Given the description of an element on the screen output the (x, y) to click on. 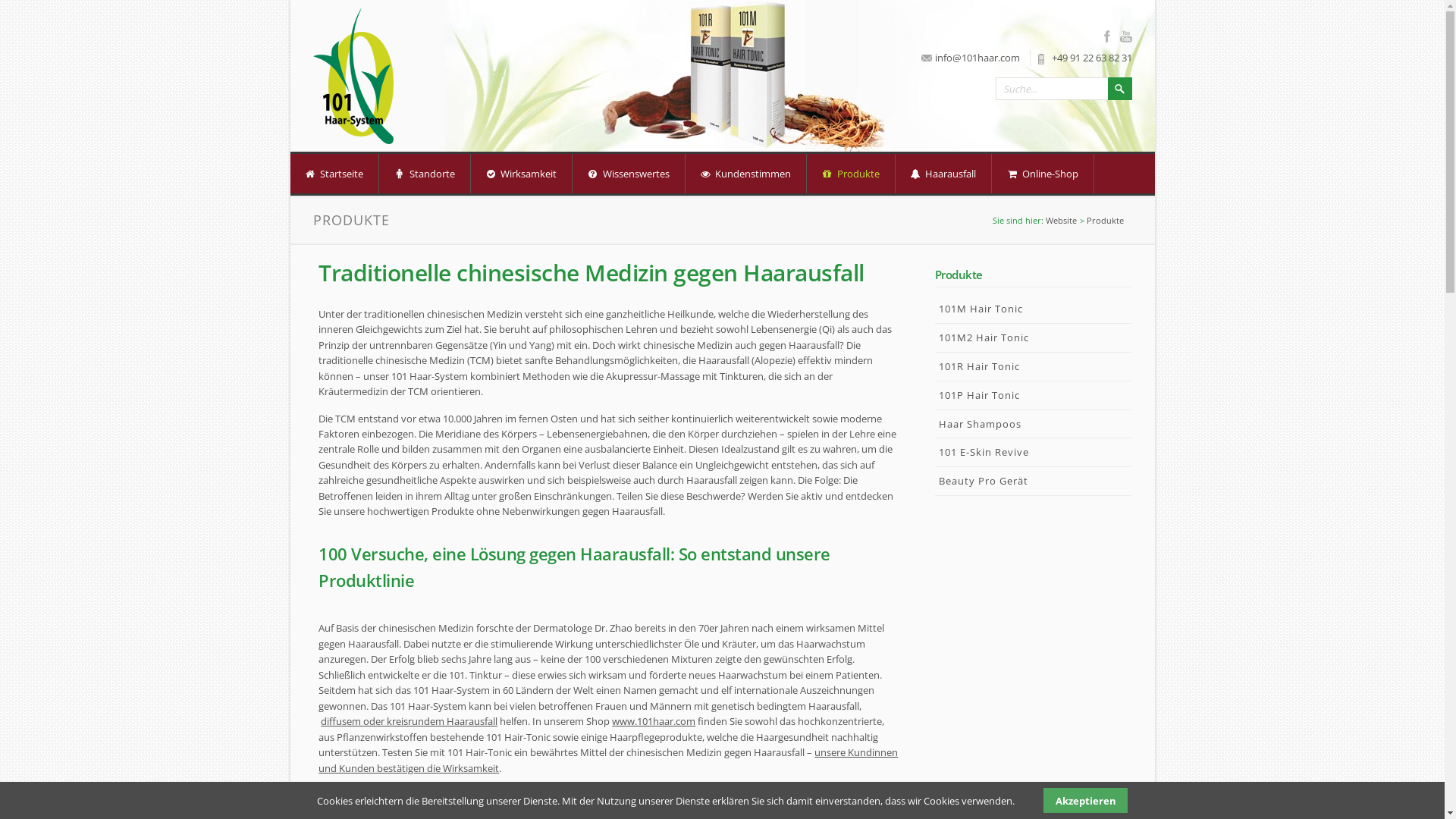
Wirksamkeit Element type: text (520, 173)
  Element type: text (304, 177)
www.101haar.com Element type: text (653, 721)
  Element type: text (939, 501)
Youtube Element type: text (1125, 36)
Haarausfall Element type: text (942, 173)
Haar Shampoos Element type: text (1032, 424)
Online-Shop Element type: text (1042, 173)
101M2 Hair Tonic Element type: text (1032, 337)
Kundenstimmen Element type: text (745, 173)
Standorte Element type: text (424, 173)
Zur Startseite Element type: hover (352, 75)
Akzeptieren Element type: text (1084, 799)
Wissenswertes Element type: text (628, 173)
diffusem oder kreisrundem Haarausfall Element type: text (408, 721)
101 E-Skin Revive Element type: text (1032, 452)
101R Hair Tonic Element type: text (1032, 366)
Startseite Element type: text (333, 173)
Facebook Element type: text (1110, 36)
101M Hair Tonic Element type: text (1032, 308)
101P Hair Tonic Element type: text (1032, 395)
info@101haar.com Element type: text (976, 57)
Website Element type: text (1060, 219)
